Given the description of an element on the screen output the (x, y) to click on. 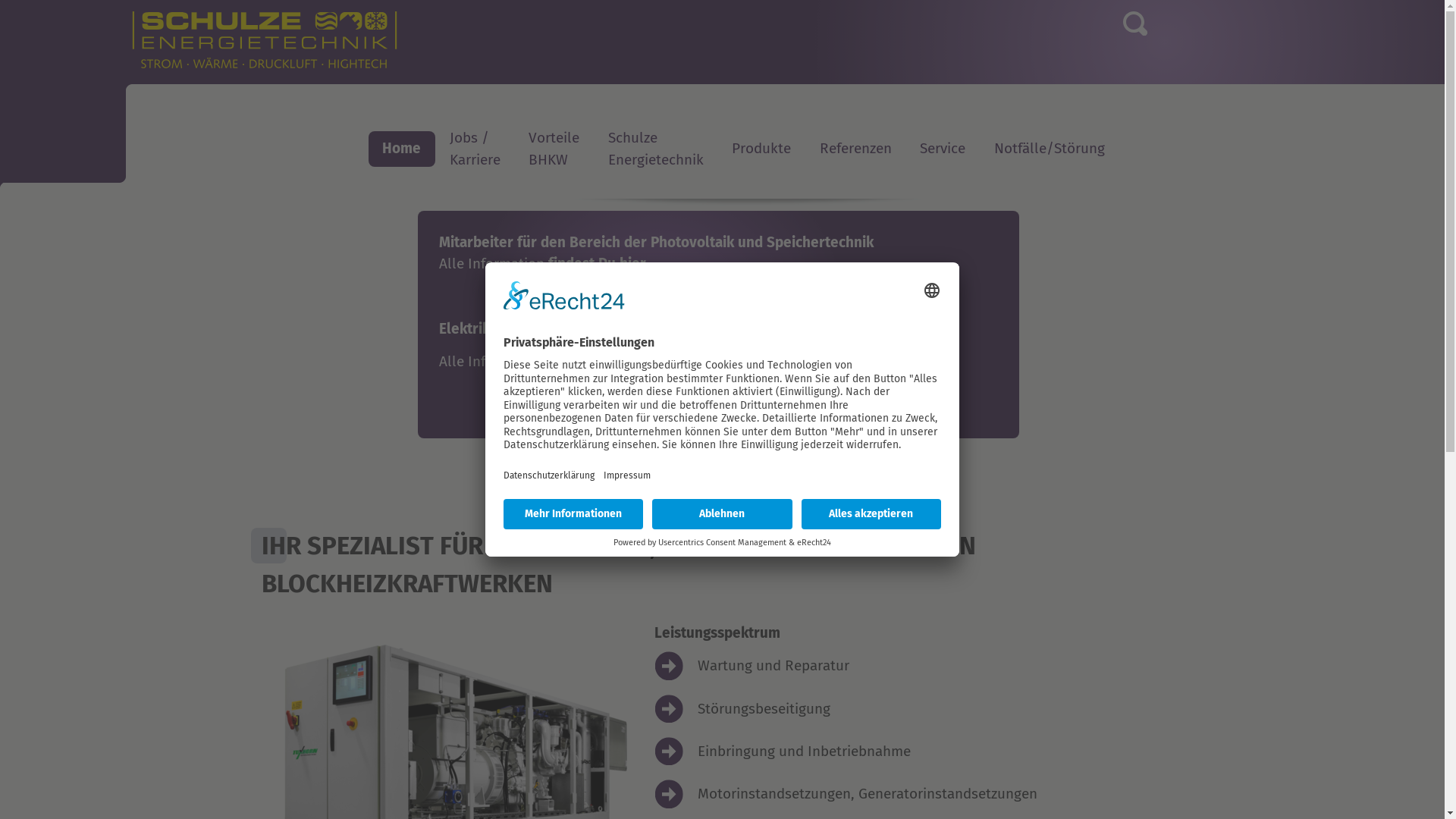
Schulze Energietechnik Element type: text (655, 148)
Service Element type: text (943, 148)
Produkte Element type: text (762, 148)
  Element type: text (367, 197)
Referenzen Element type: text (855, 148)
findest Du hier .... Element type: text (604, 361)
findest Du hier .... Element type: text (604, 263)
Vorteile BHKW Element type: text (554, 148)
Startseite von Schulze Energietechnik Element type: hover (308, 47)
Jobs / Karriere Element type: text (474, 148)
